Given the description of an element on the screen output the (x, y) to click on. 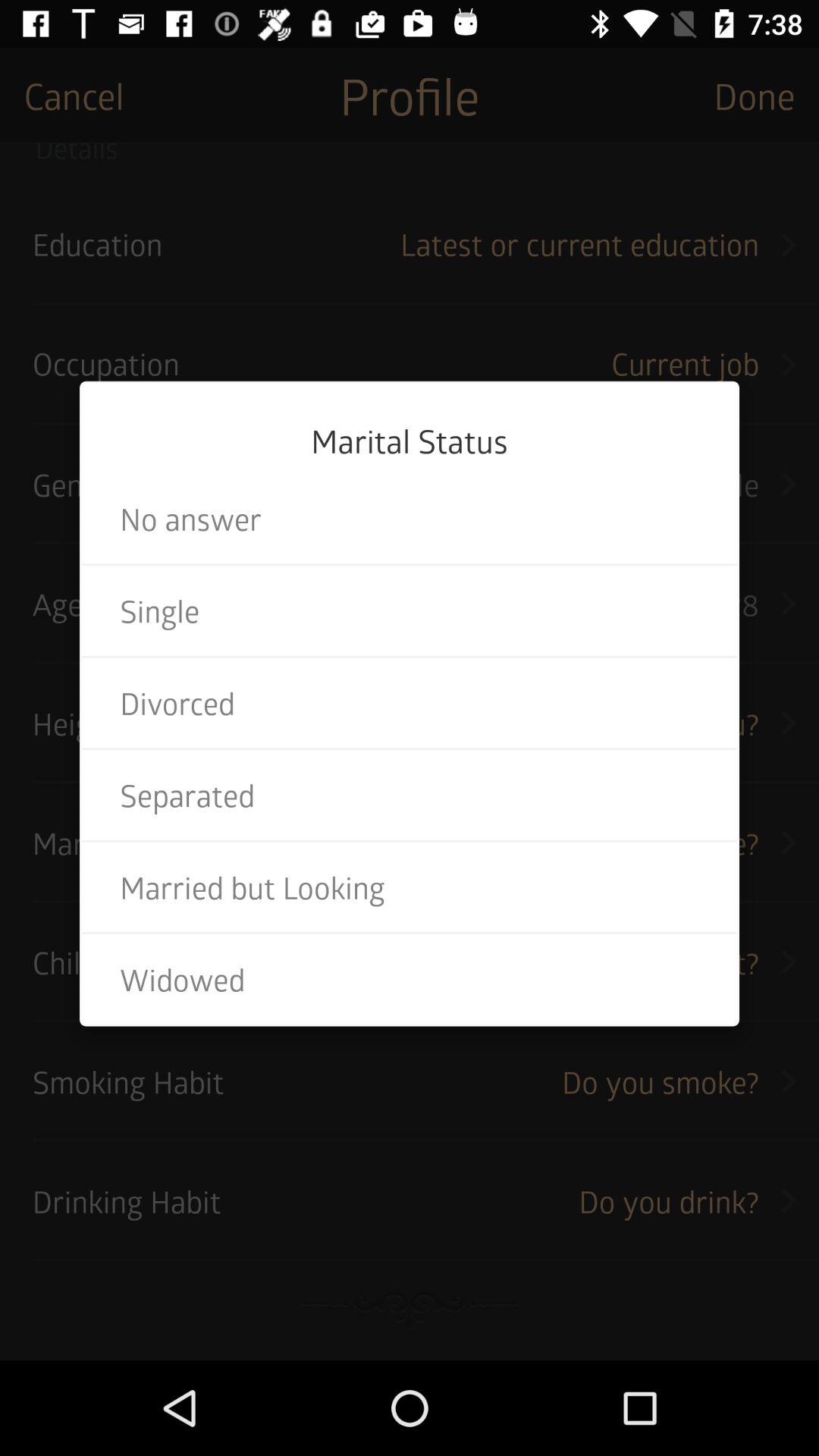
choose widowed at the bottom (409, 979)
